Given the description of an element on the screen output the (x, y) to click on. 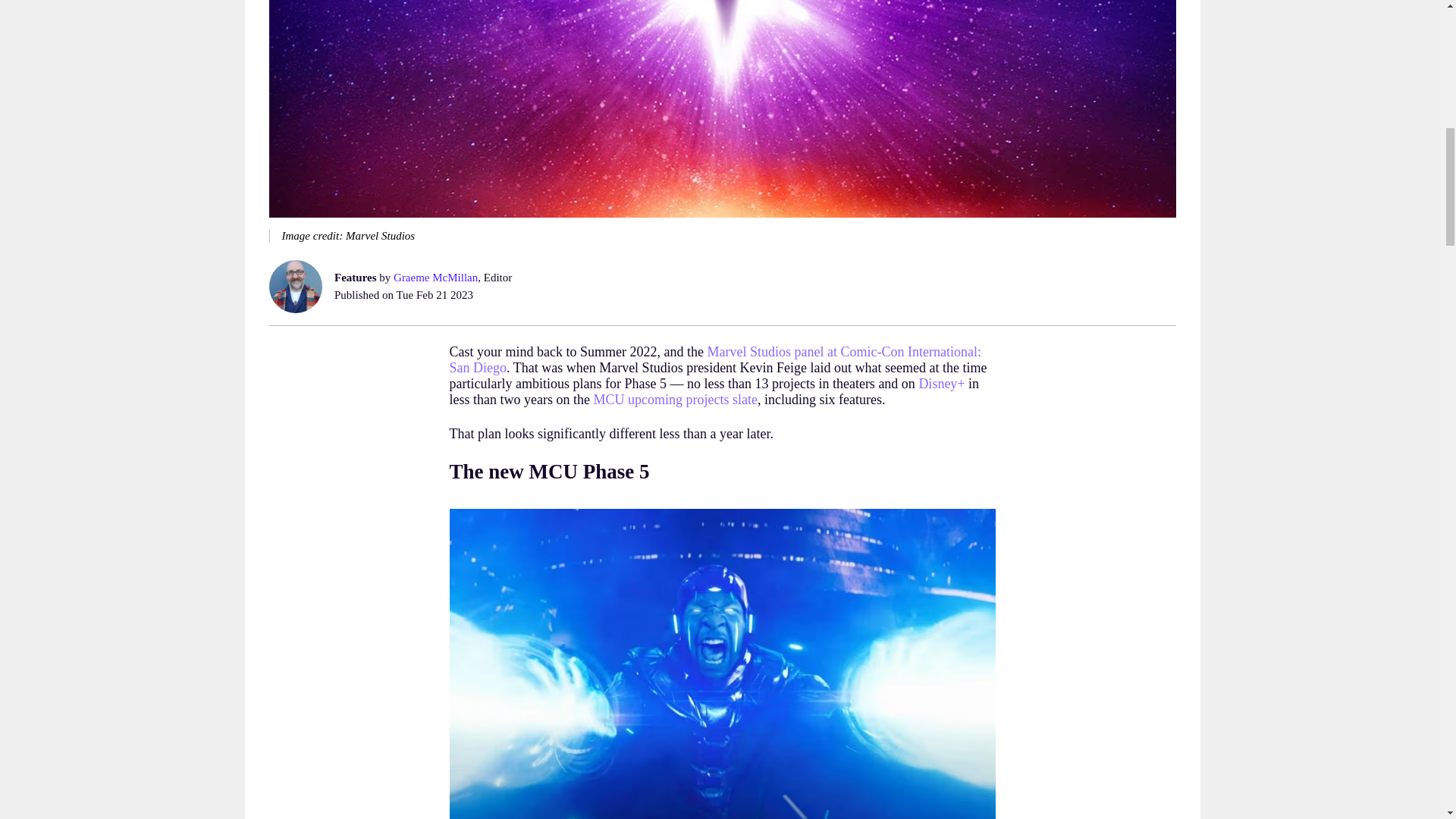
Graeme McMillan (435, 277)
MCU upcoming projects slate (674, 399)
Marvel Studios panel at Comic-Con International: San Diego (713, 359)
